Given the description of an element on the screen output the (x, y) to click on. 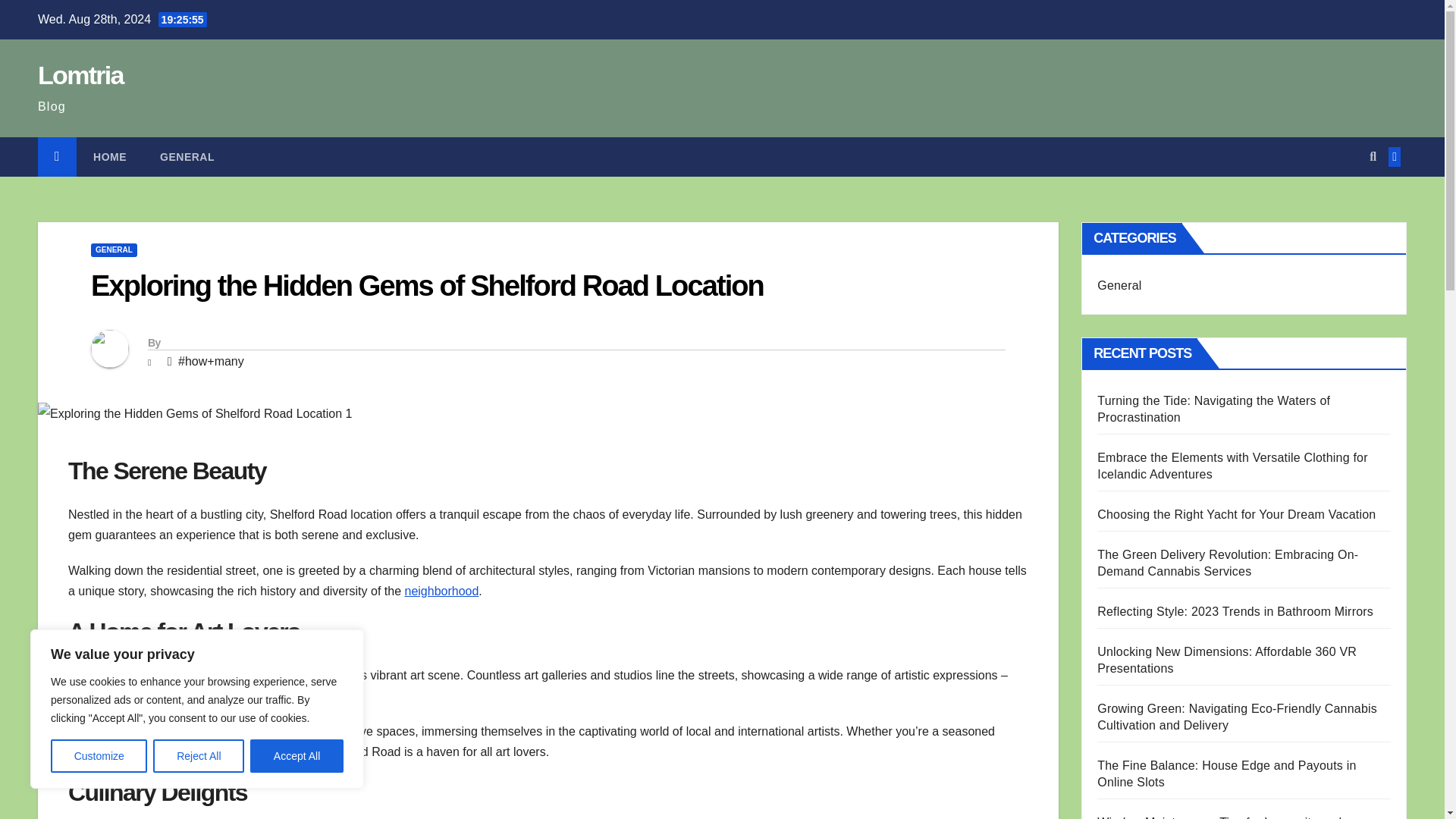
Lomtria (80, 74)
Customize (98, 756)
neighborhood (441, 590)
GENERAL (113, 250)
Exploring the Hidden Gems of Shelford Road Location (426, 286)
General (186, 156)
Home (109, 156)
Reject All (198, 756)
HOME (109, 156)
